Given the description of an element on the screen output the (x, y) to click on. 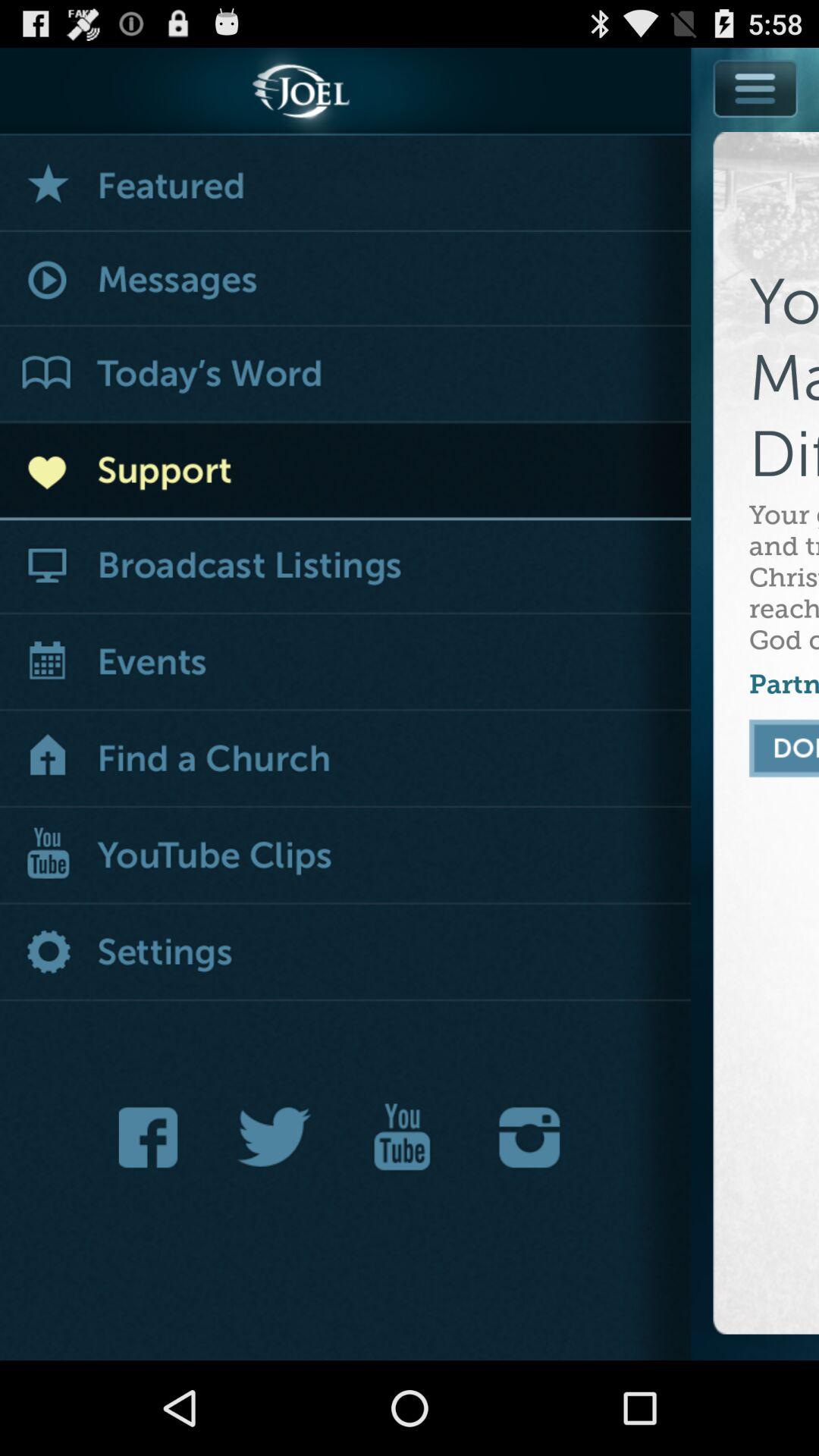
check messages (345, 280)
